Given the description of an element on the screen output the (x, y) to click on. 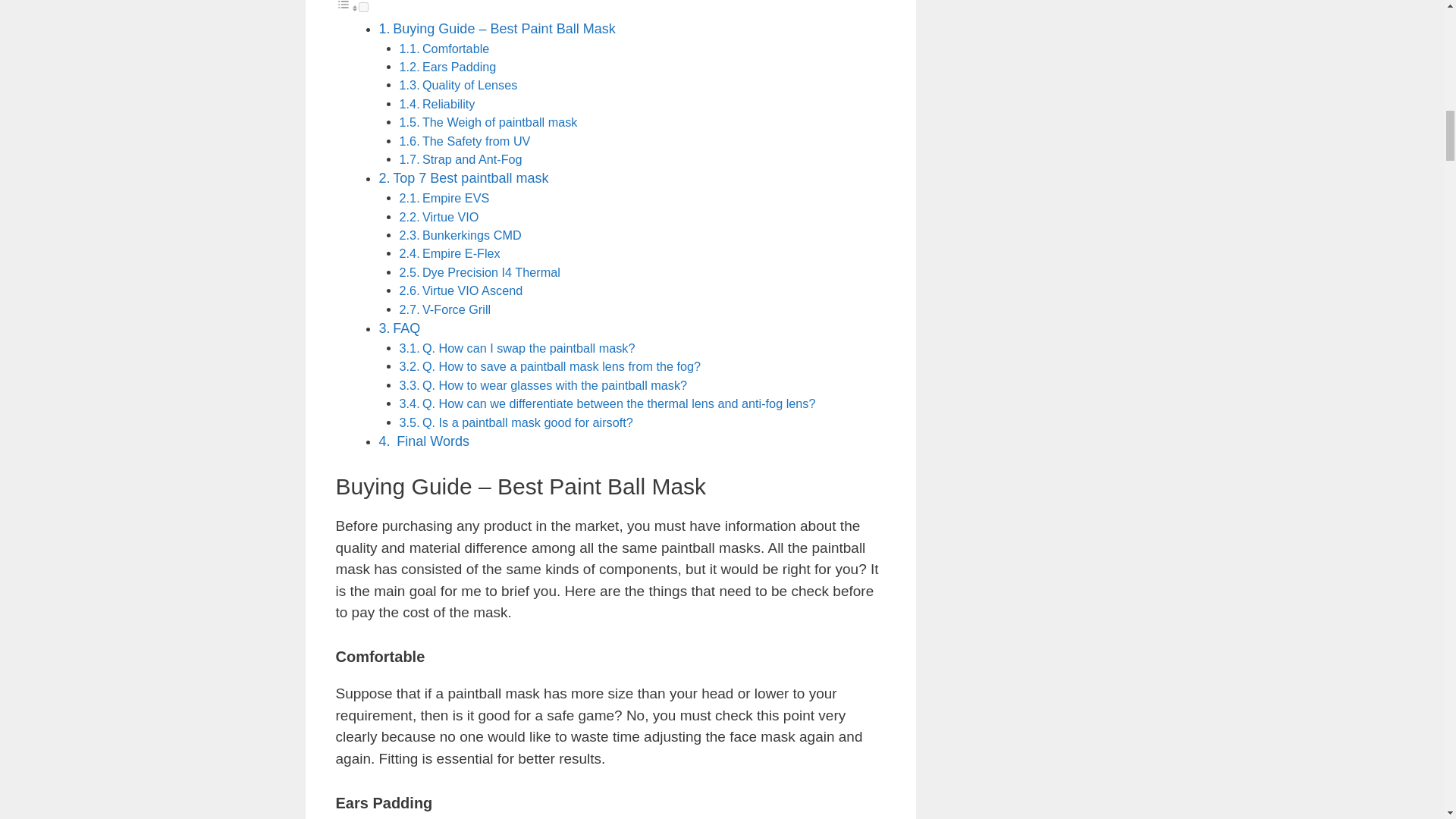
Top 7 Best paintball mask (470, 177)
Ears Padding (459, 66)
Ears Padding (459, 66)
Virtue VIO (450, 216)
Quality of Lenses (469, 84)
Bunkerkings CMD (471, 234)
Empire EVS (455, 197)
Quality of Lenses (469, 84)
The Weigh of paintball mask (500, 121)
The Weigh of paintball mask (500, 121)
